Given the description of an element on the screen output the (x, y) to click on. 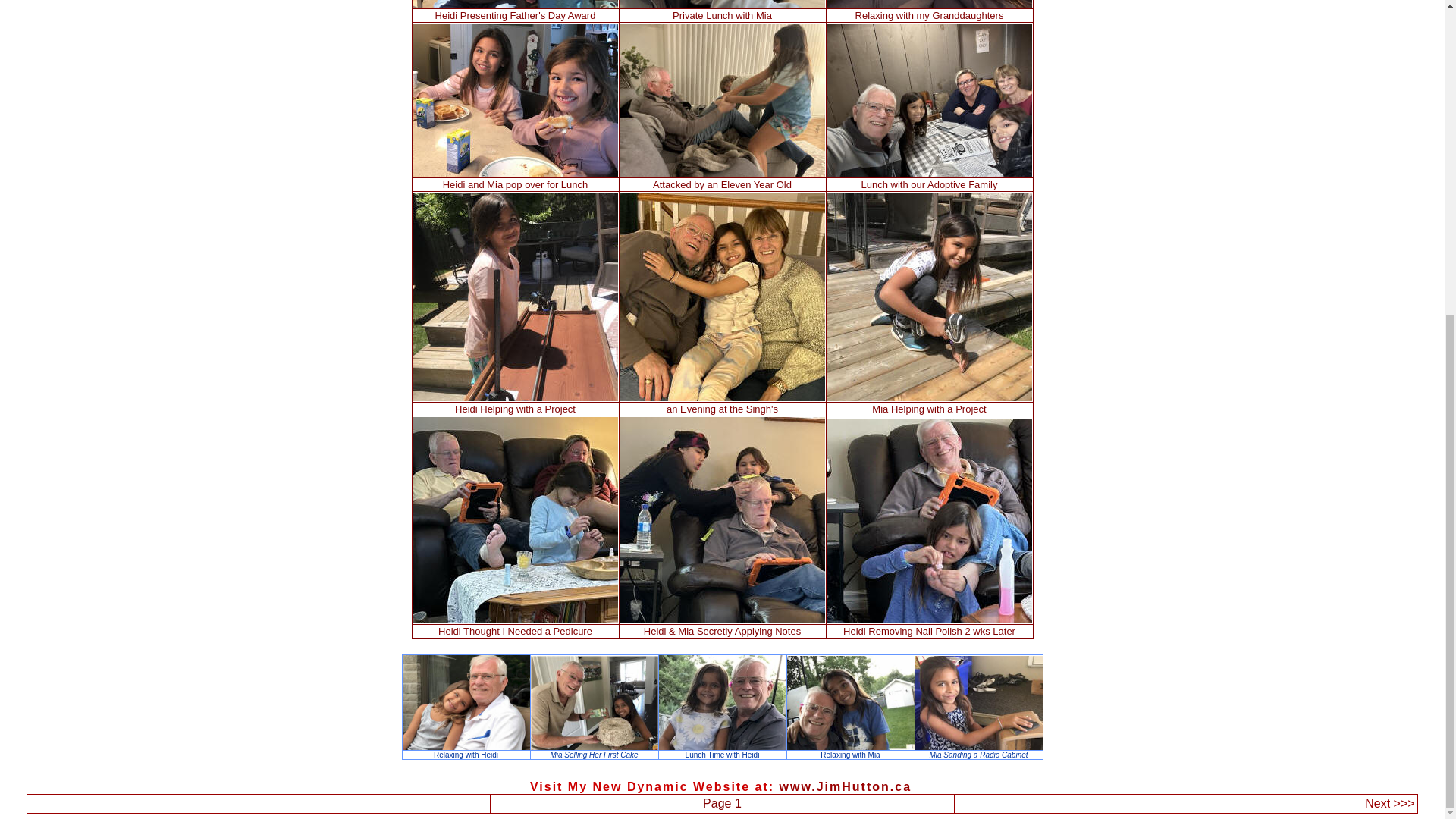
www.JimHutton.ca (845, 786)
Click Here to Enlarge (978, 744)
How to Best Use this Site (1389, 802)
Click Here to Enlarge (465, 745)
Click Here to Enlarge (850, 744)
Click Here to Enlarge (722, 745)
Click Here to Enlarge (594, 744)
